Given the description of an element on the screen output the (x, y) to click on. 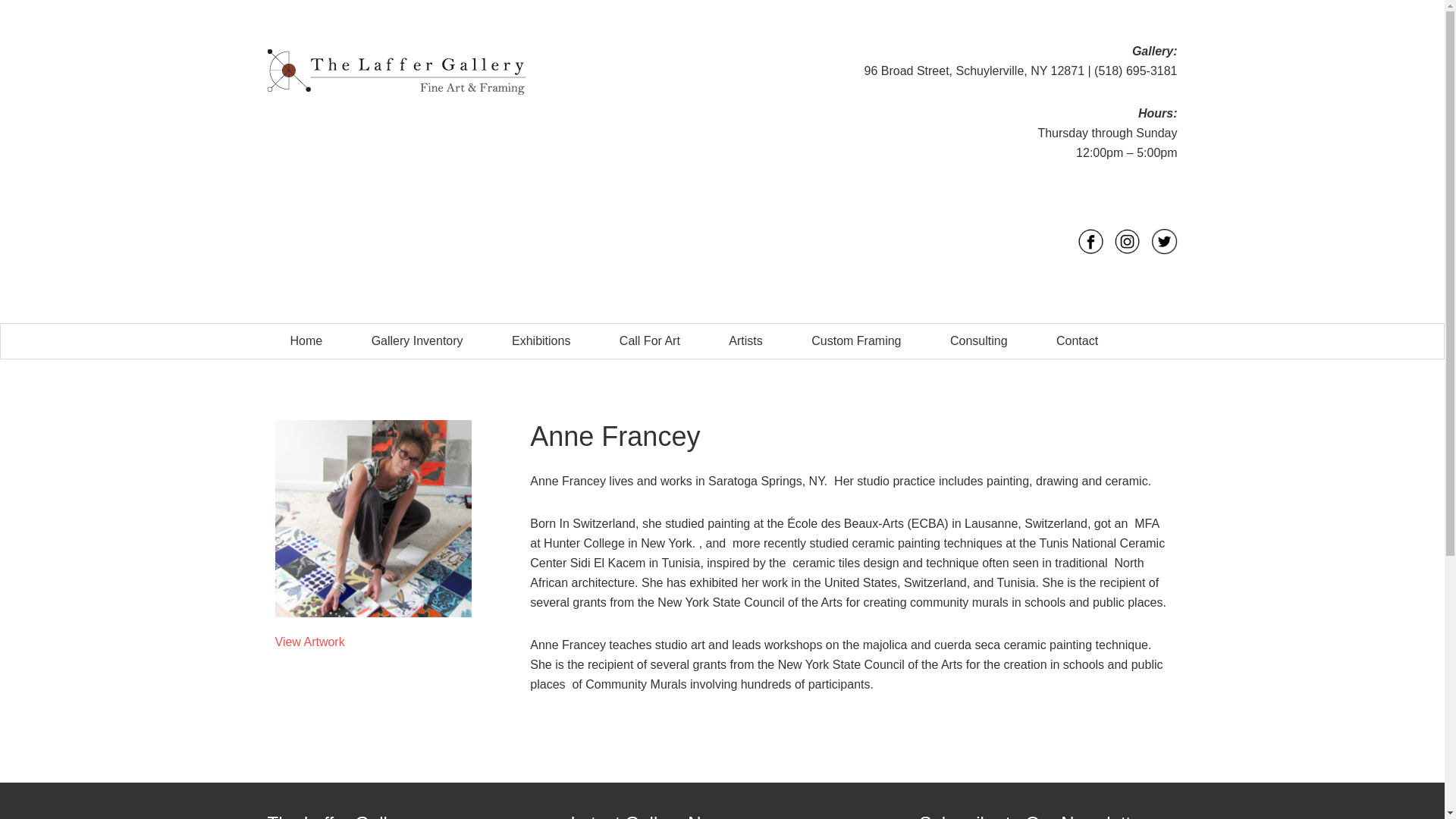
Call For Art (649, 340)
Custom Framing (856, 340)
Home (305, 340)
Artists (745, 340)
Exhibitions (540, 340)
Consulting (978, 340)
Contact (1077, 340)
The Laffer Gallery (403, 72)
